Given the description of an element on the screen output the (x, y) to click on. 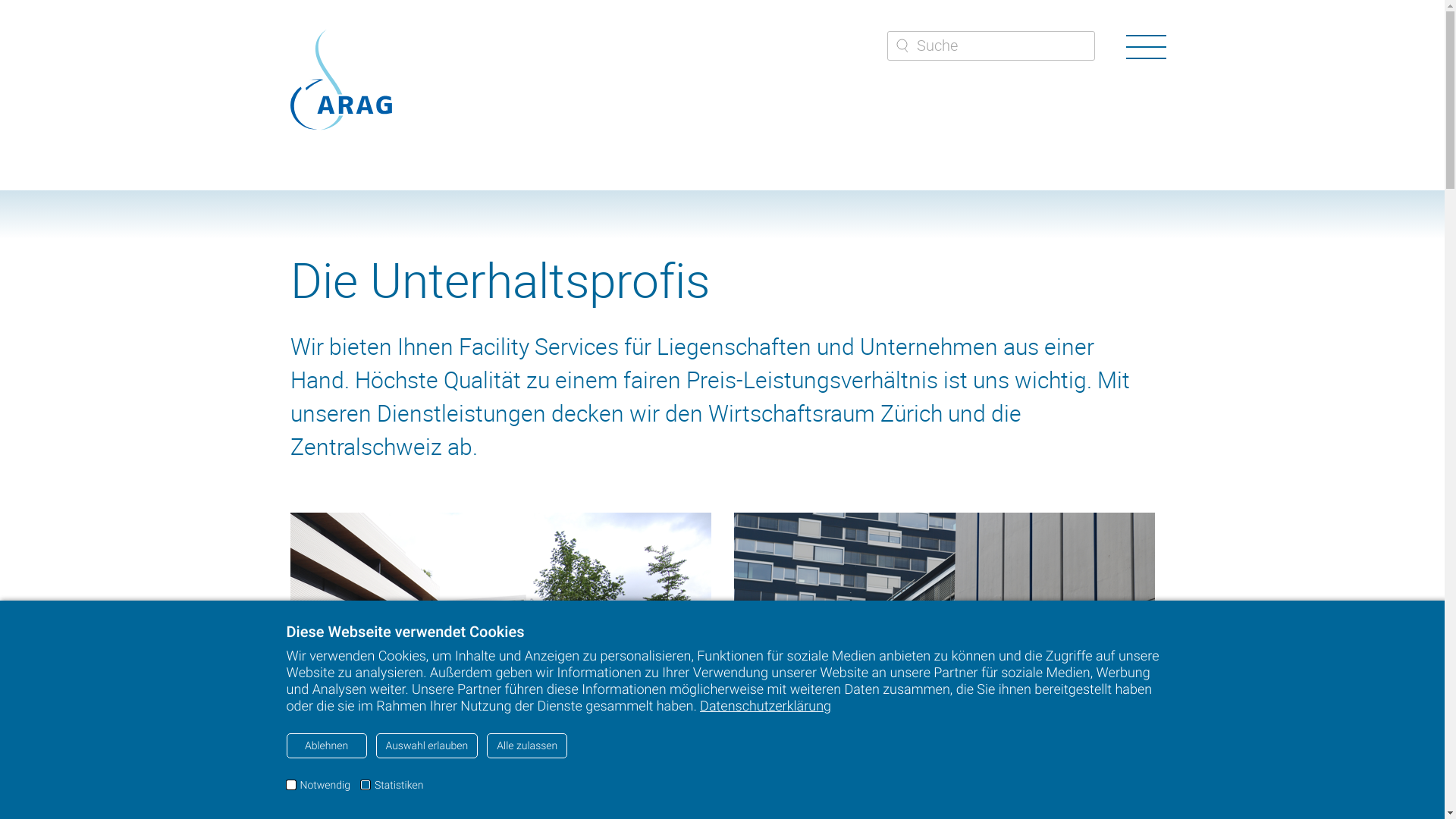
Search Element type: text (901, 47)
Ablehnen Element type: text (326, 745)
Enter the terms you wish to search for. Element type: hover (991, 45)
Skip to main content Element type: text (0, 0)
Alle zulassen Element type: text (526, 745)
Home Element type: hover (340, 78)
Auswahl erlauben Element type: text (427, 745)
